Given the description of an element on the screen output the (x, y) to click on. 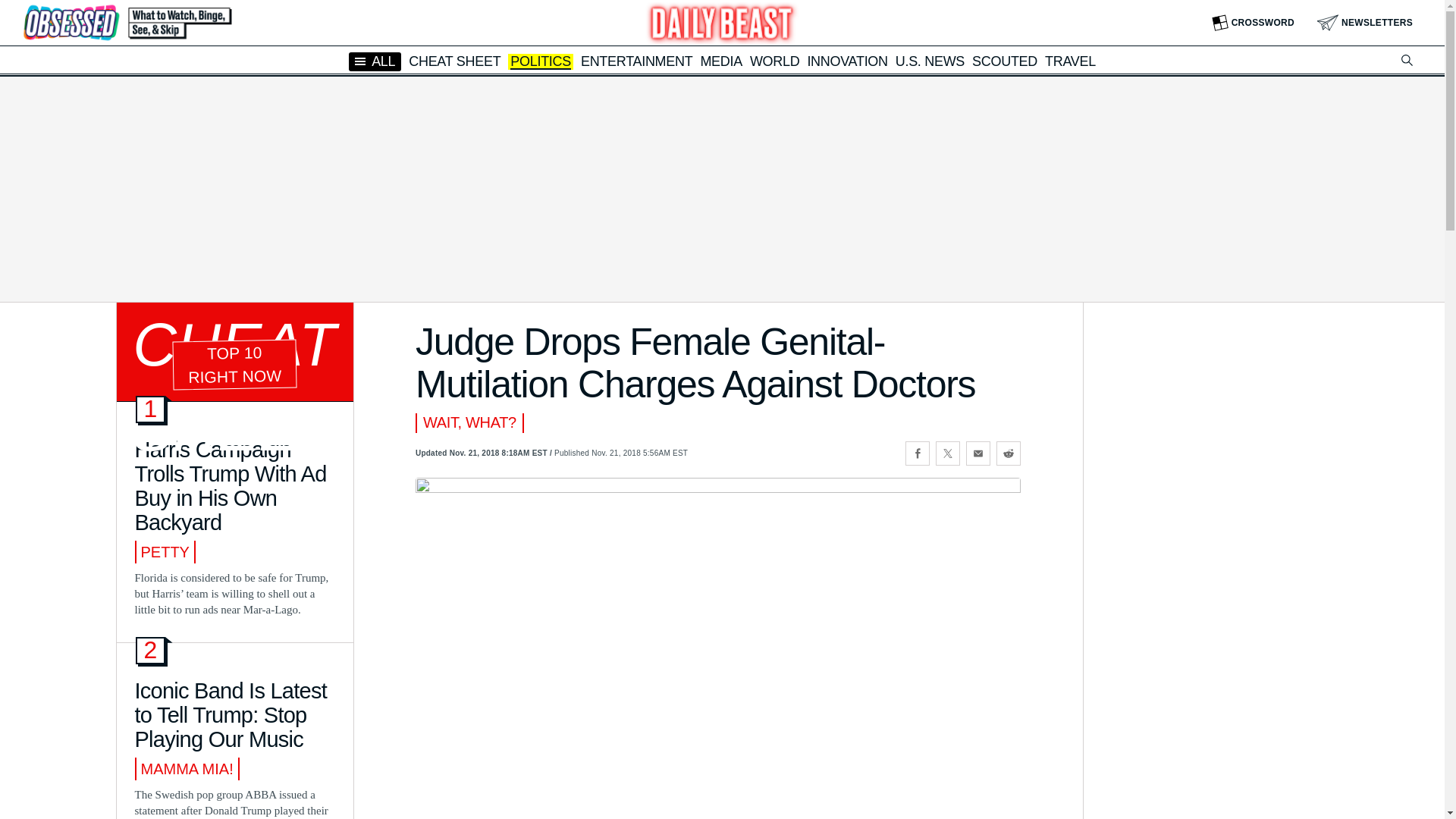
WORLD (774, 60)
ALL (375, 60)
ENTERTAINMENT (636, 60)
MEDIA (721, 60)
CROSSWORD (1252, 22)
CHEAT SHEET (454, 60)
U.S. NEWS (929, 60)
POLITICS (540, 61)
SCOUTED (1004, 60)
INNOVATION (846, 60)
